Given the description of an element on the screen output the (x, y) to click on. 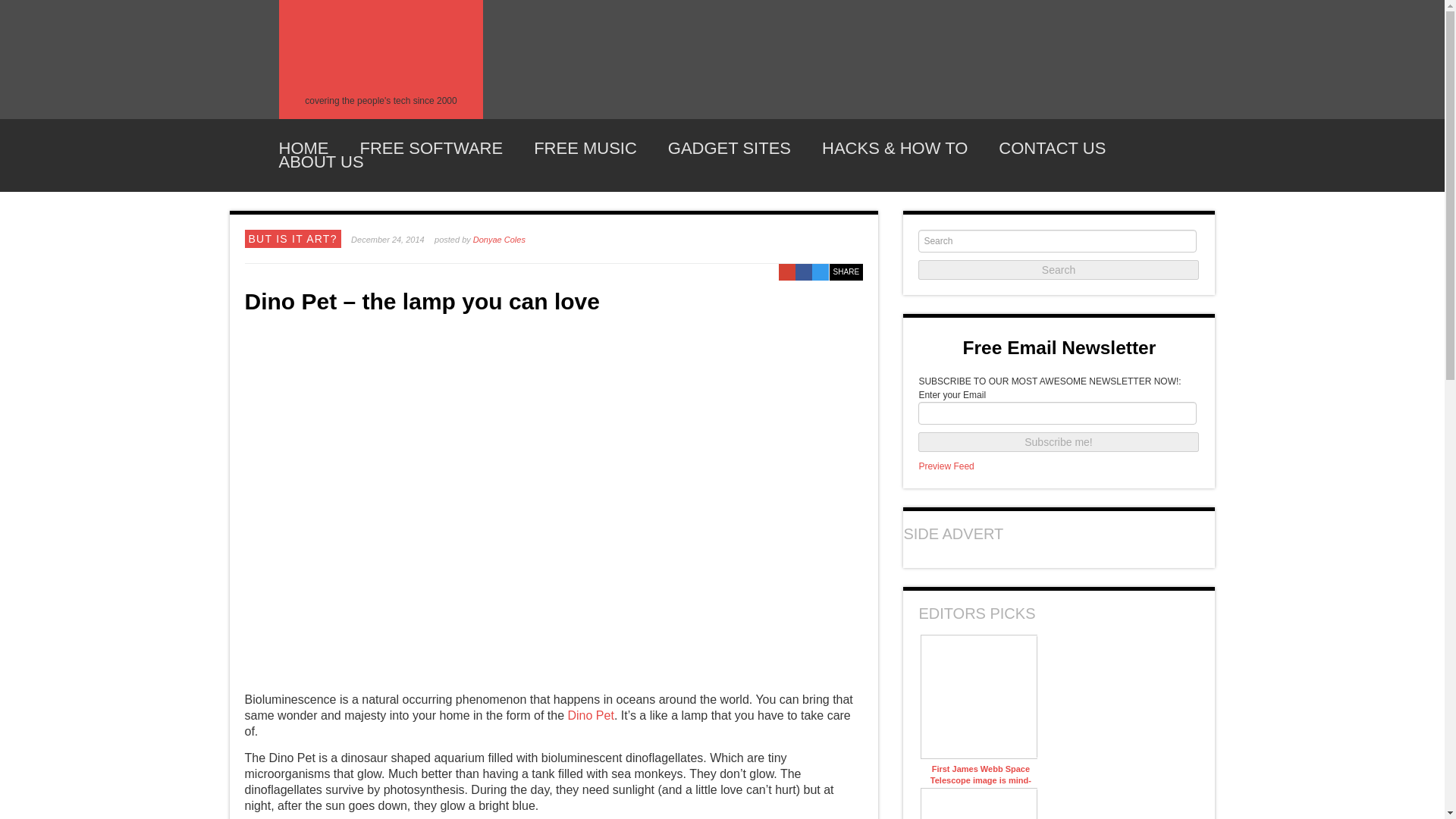
Dino Pet (589, 715)
Subscribe me! (1058, 442)
Donyae Coles (499, 239)
GADGET SITES (729, 148)
FREE SOFTWARE (430, 148)
HOME (304, 148)
FREE MUSIC (585, 148)
Preview Feed (946, 466)
Search (1058, 270)
View all posts in but is it art? (292, 238)
ABOUT US (321, 161)
Search (1058, 270)
Subscribe me! (1058, 442)
BUT IS IT ART? (292, 238)
SHARE (846, 271)
